Given the description of an element on the screen output the (x, y) to click on. 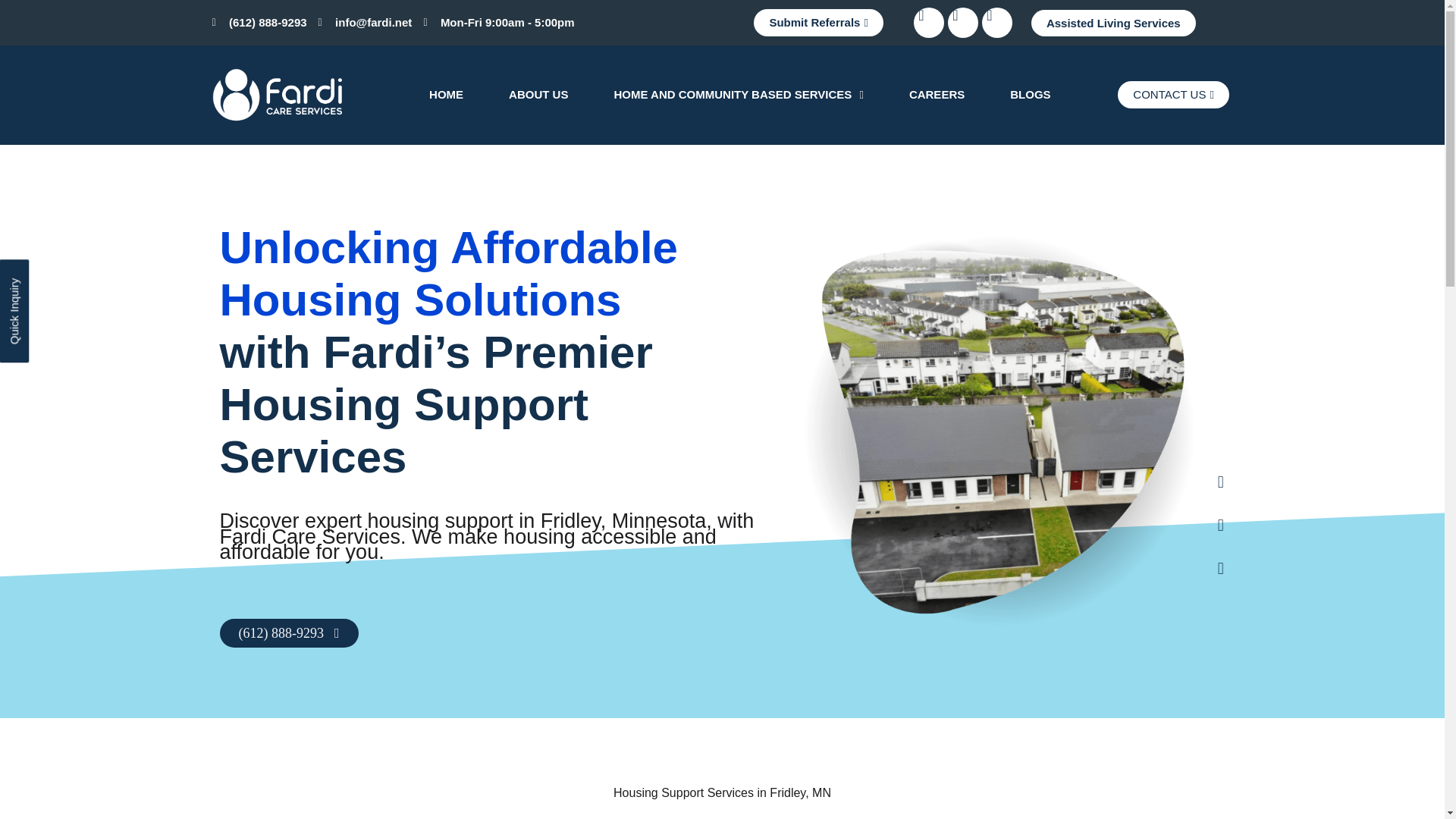
CONTACT US (1173, 94)
BLOGS (1030, 94)
HOME AND COMMUNITY BASED SERVICES (738, 94)
Facebook-f (928, 22)
Google (996, 22)
CAREERS (936, 94)
Linkedin-in (962, 22)
Submit Referrals (818, 22)
Quick Inquiry (51, 274)
HOME (446, 94)
ABOUT US (538, 94)
Assisted Living Services (1112, 22)
